Given the description of an element on the screen output the (x, y) to click on. 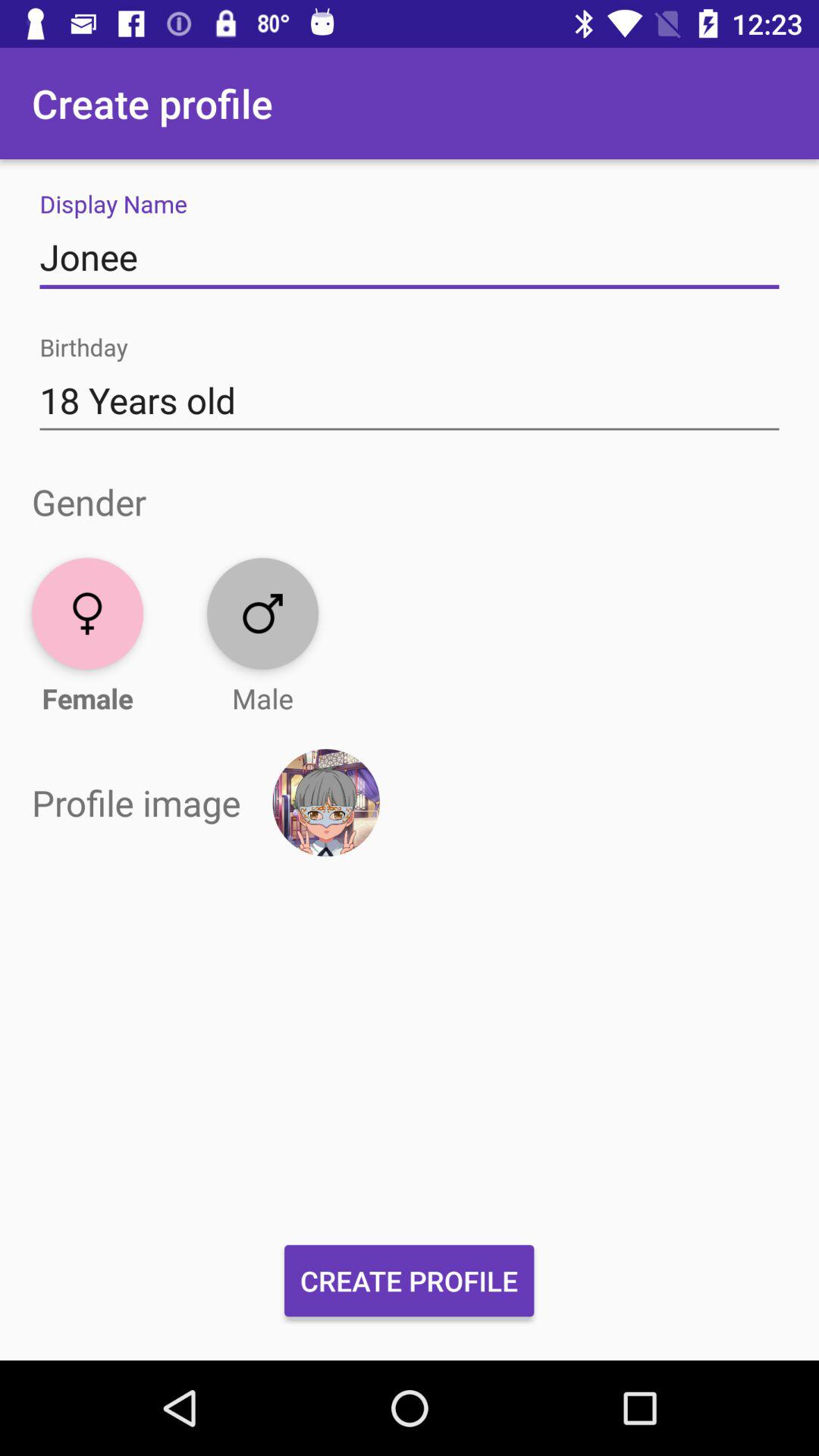
choose female option (87, 613)
